Given the description of an element on the screen output the (x, y) to click on. 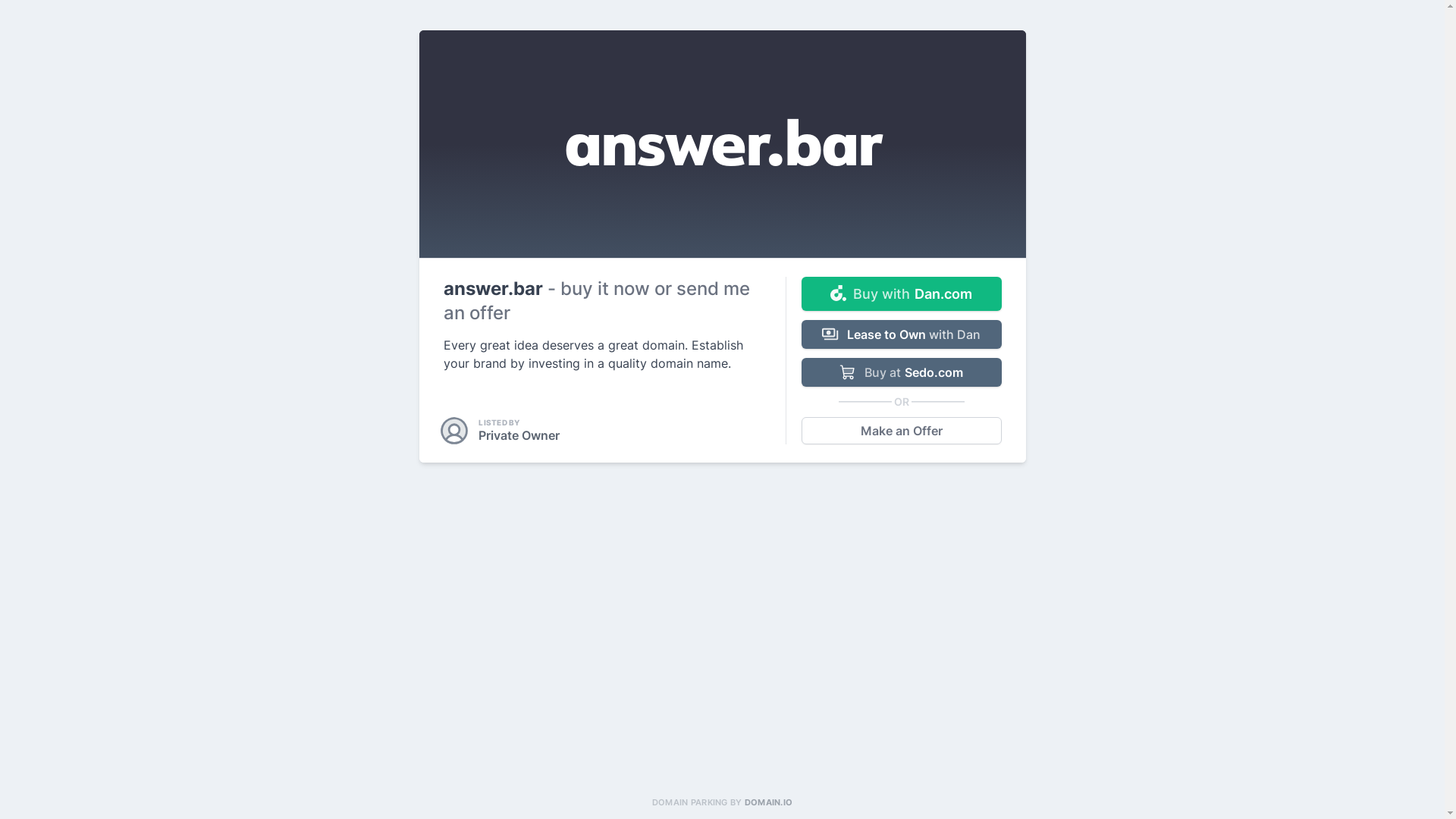
DOMAIN PARKING BY DOMAIN.IO Element type: text (722, 802)
Lease to Own with Dan Element type: text (900, 334)
Buy with Dan.com Element type: text (900, 293)
Buy at Sedo.com Element type: text (900, 371)
Make an Offer Element type: text (900, 430)
LISTED BY
Private Owner Element type: text (500, 430)
